Given the description of an element on the screen output the (x, y) to click on. 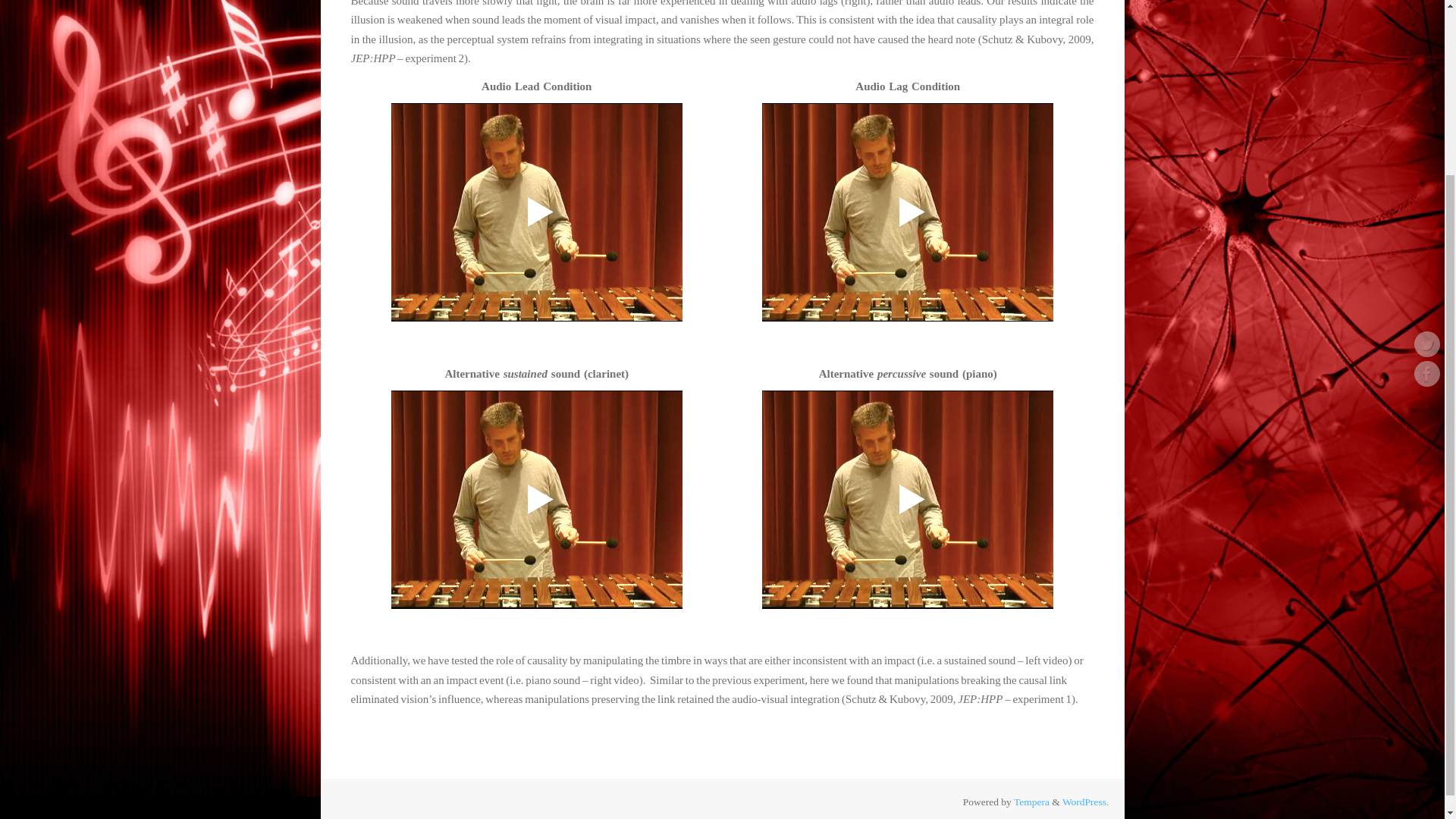
Semantic Personal Publishing Platform (1085, 801)
Maple Lab Facebook (1426, 156)
Tempera Theme by Cryout Creations (1031, 801)
